Given the description of an element on the screen output the (x, y) to click on. 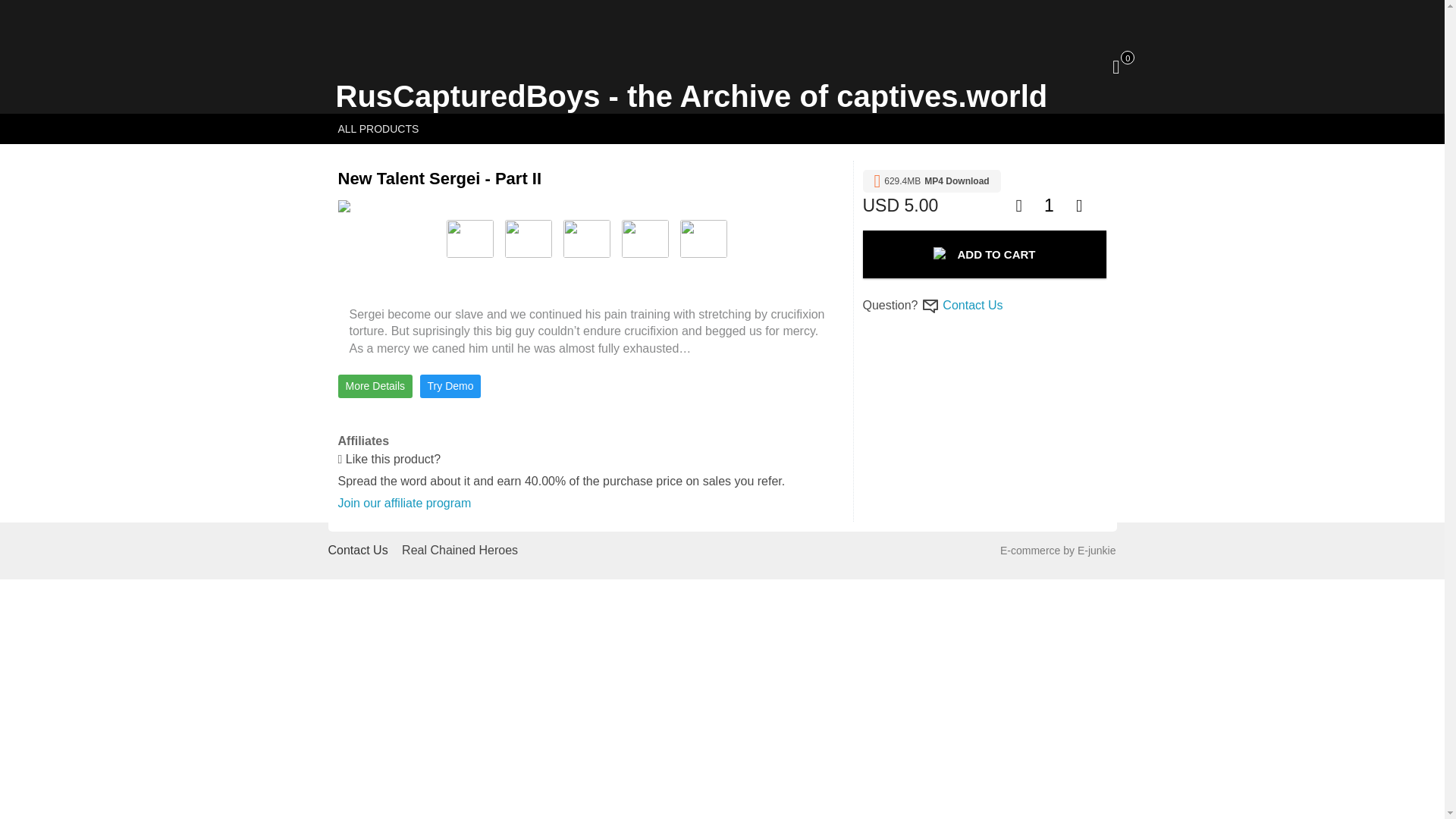
More Details (375, 386)
ADD TO CART (984, 254)
ALL PRODUCTS (377, 128)
Contact Us (972, 305)
Try Demo (450, 386)
